Given the description of an element on the screen output the (x, y) to click on. 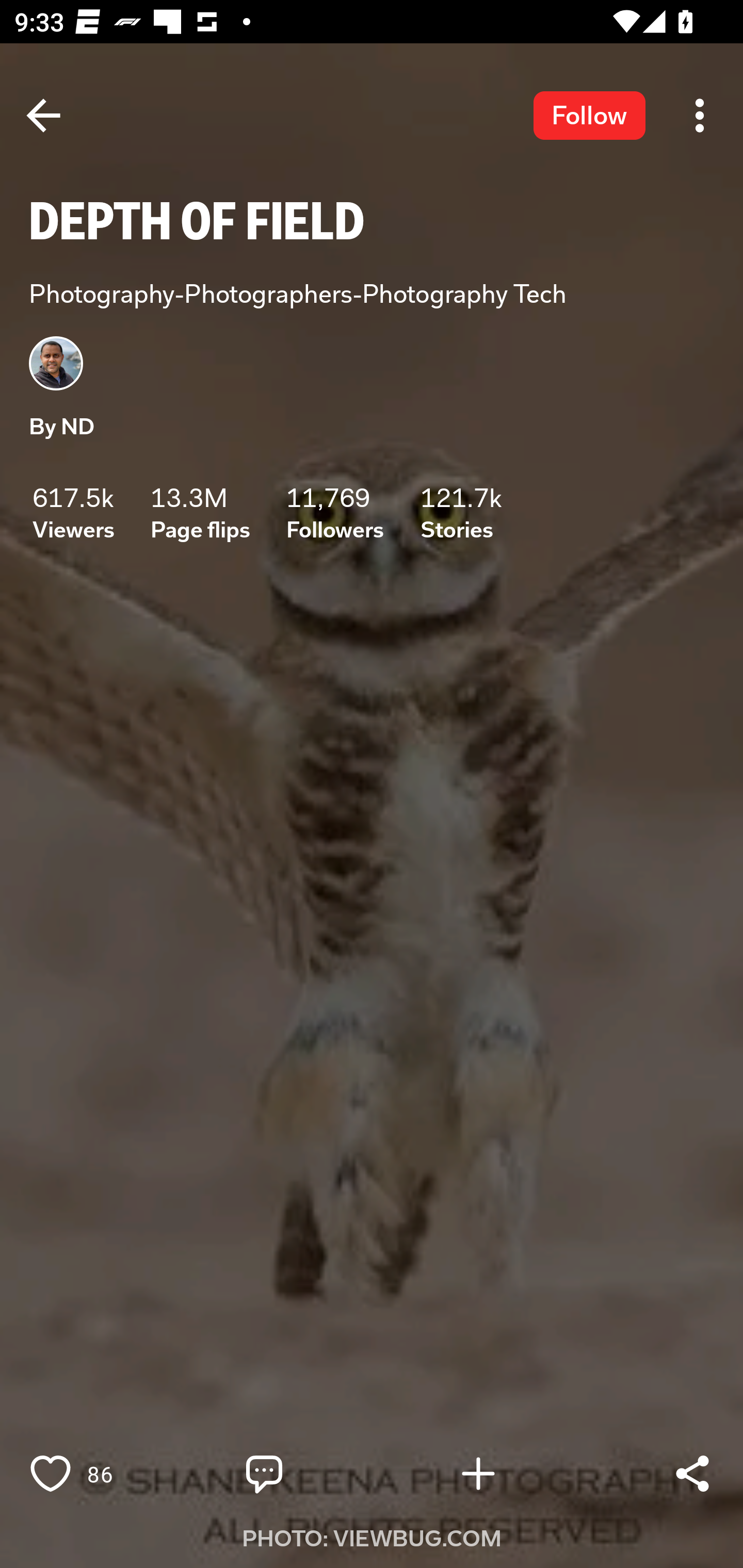
Back (43, 115)
More (699, 115)
Follow (589, 114)
By ND (61, 427)
617.5k Viewers (73, 512)
13.3M Page flips (200, 512)
11,769 Followers (335, 512)
121.7k Stories (461, 512)
Like 86 (93, 1473)
Write a comment… (307, 1473)
Flip into Magazine (521, 1473)
Share (692, 1473)
PHOTO: VIEWBUG.COM (371, 1538)
